Given the description of an element on the screen output the (x, y) to click on. 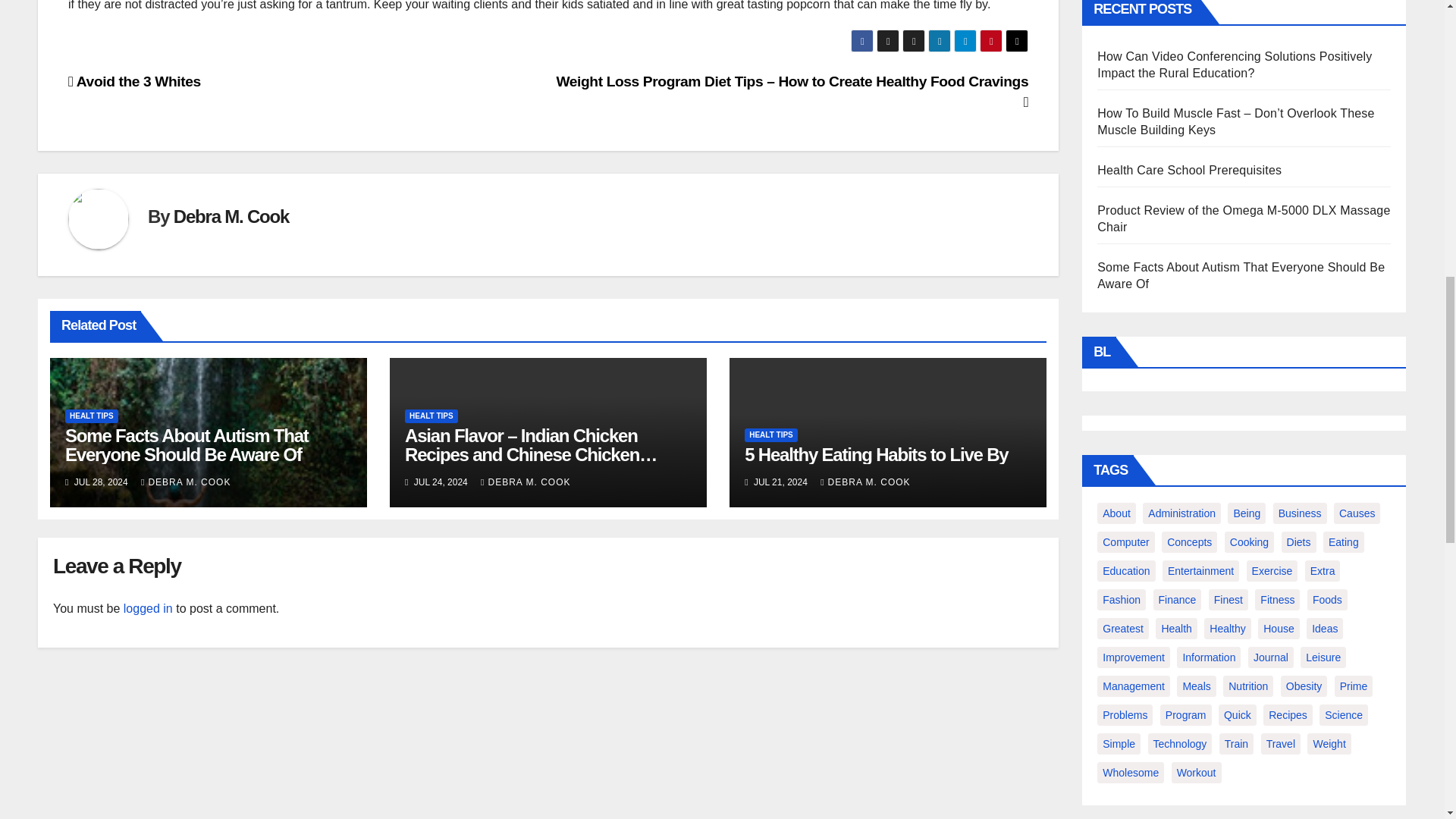
HEALT TIPS (91, 416)
Avoid the 3 Whites (134, 81)
Debra M. Cook (230, 216)
